Given the description of an element on the screen output the (x, y) to click on. 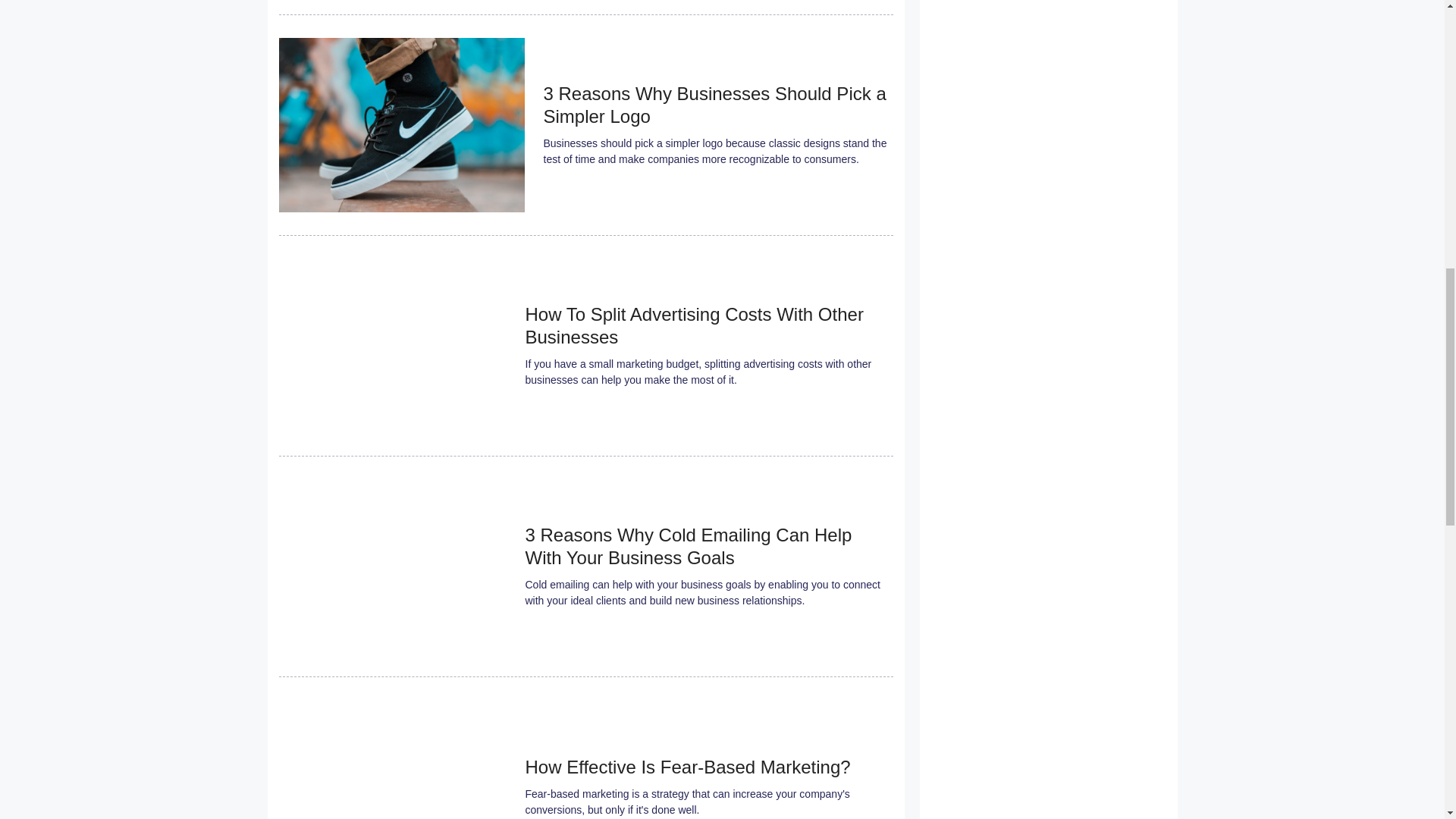
Scroll back to top (1406, 720)
How To Split Advertising Costs With Other Businesses (693, 325)
3 Reasons Why Businesses Should Pick a Simpler Logo (714, 105)
How Effective Is Fear-Based Marketing? (687, 767)
